Given the description of an element on the screen output the (x, y) to click on. 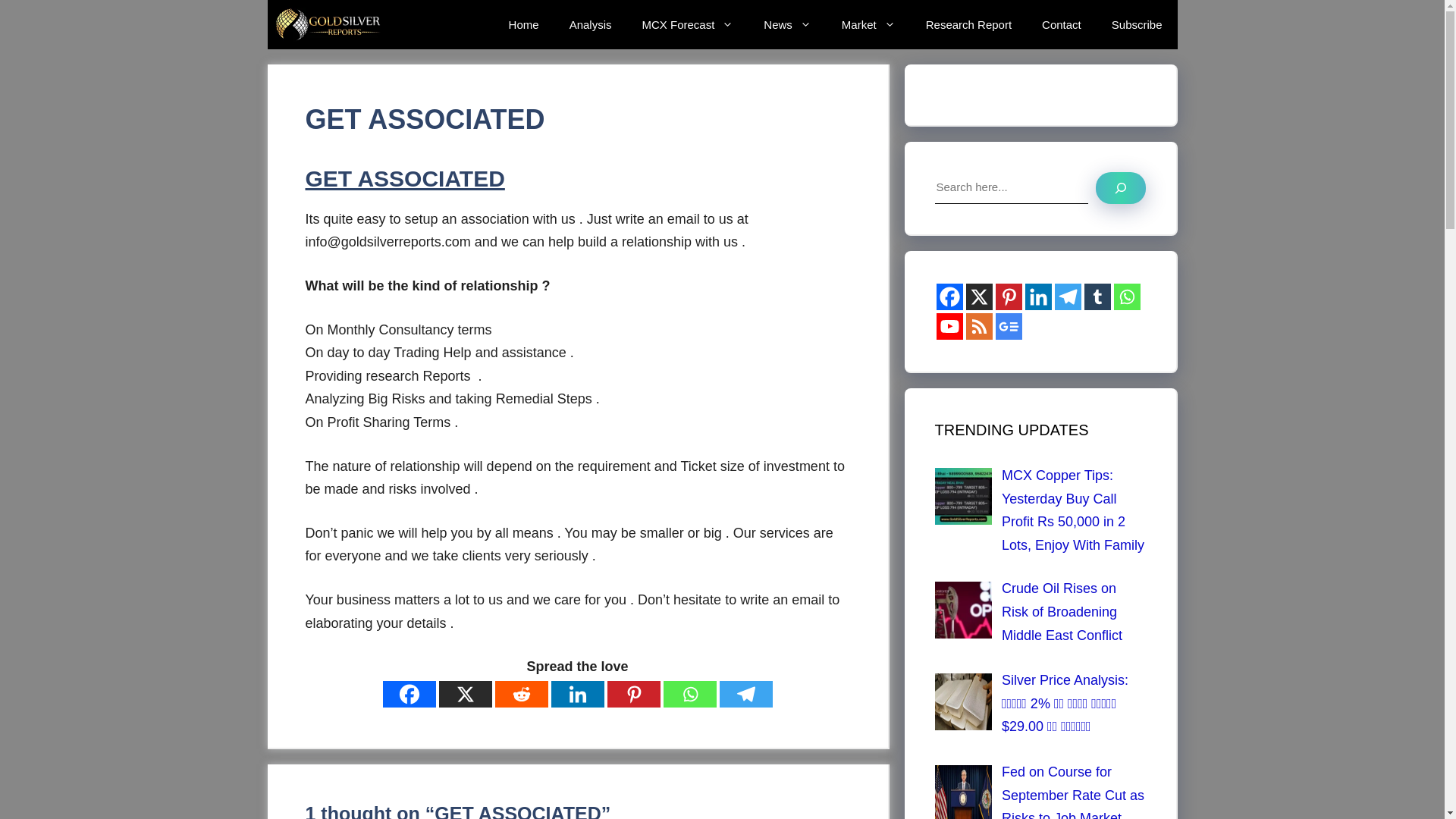
Home (523, 24)
Analysis (590, 24)
Analysis (590, 24)
Market (869, 24)
Subscribe (1136, 24)
News (787, 24)
Gold Silver Reports (329, 24)
MCX Forecast (687, 24)
Home (523, 24)
Contact (1061, 24)
MCX Forecast (687, 24)
Research Report (968, 24)
News (787, 24)
